Given the description of an element on the screen output the (x, y) to click on. 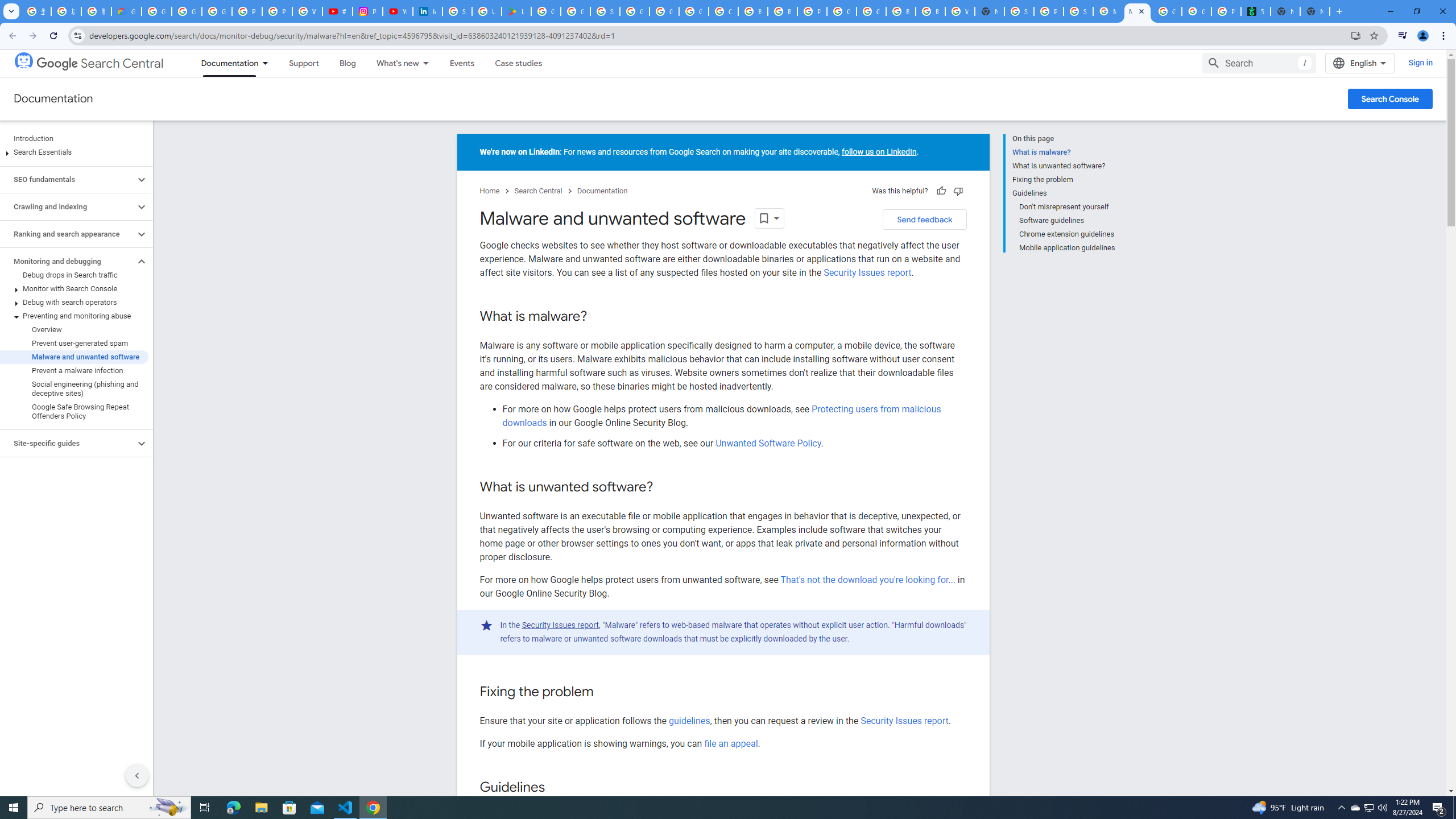
Debug drops in Search traffic (74, 274)
Search Console (1389, 98)
Browse Chrome as a guest - Computer - Google Chrome Help (782, 11)
Ranking and search appearance (67, 233)
Crawling and indexing (67, 206)
Search Central (537, 191)
